Given the description of an element on the screen output the (x, y) to click on. 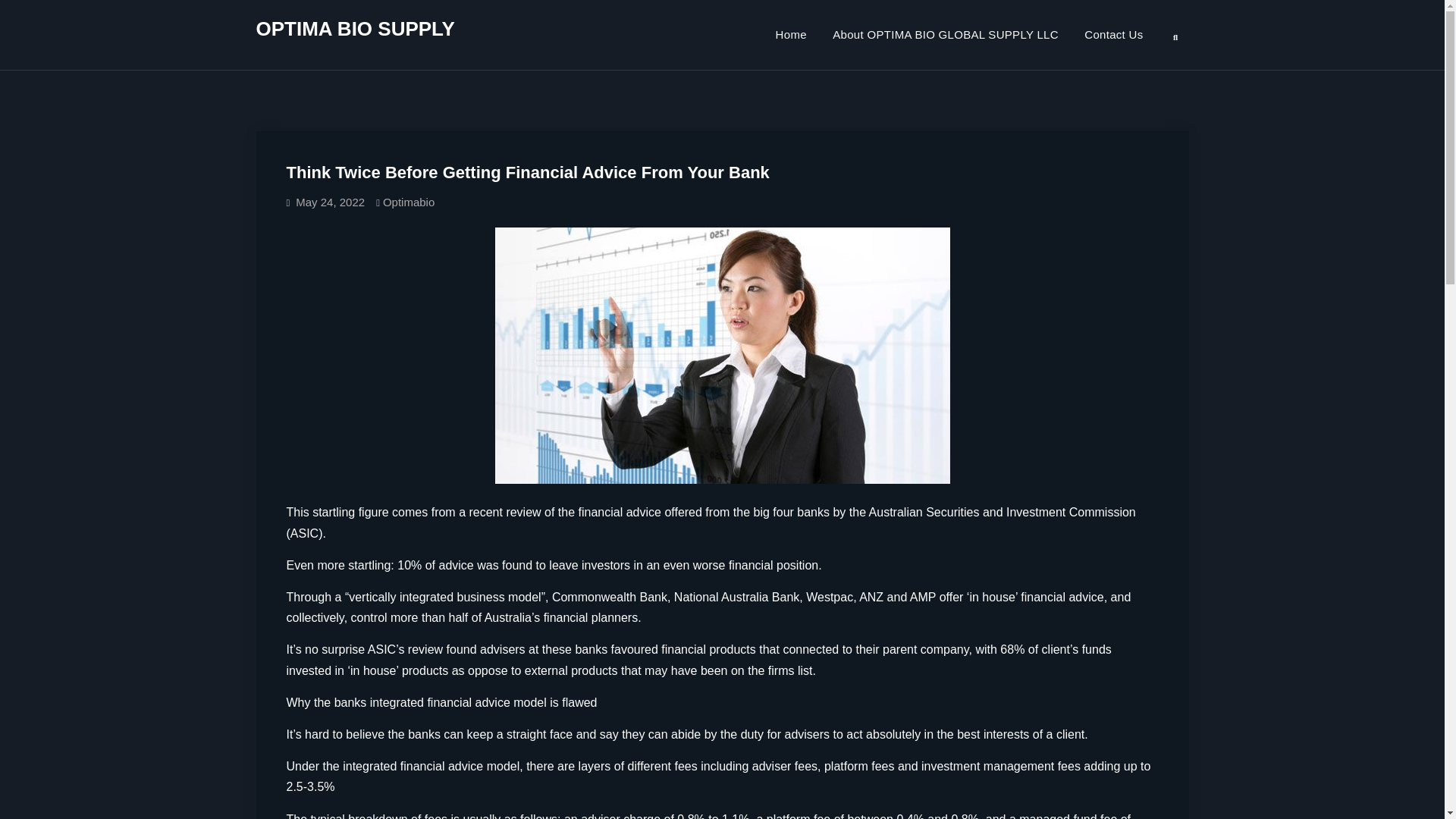
OPTIMA BIO SUPPLY (355, 28)
About OPTIMA BIO GLOBAL SUPPLY LLC (945, 34)
May 24, 2022 (330, 201)
Optimabio (407, 201)
Home (791, 34)
Search (1174, 35)
Contact Us (1113, 34)
